Given the description of an element on the screen output the (x, y) to click on. 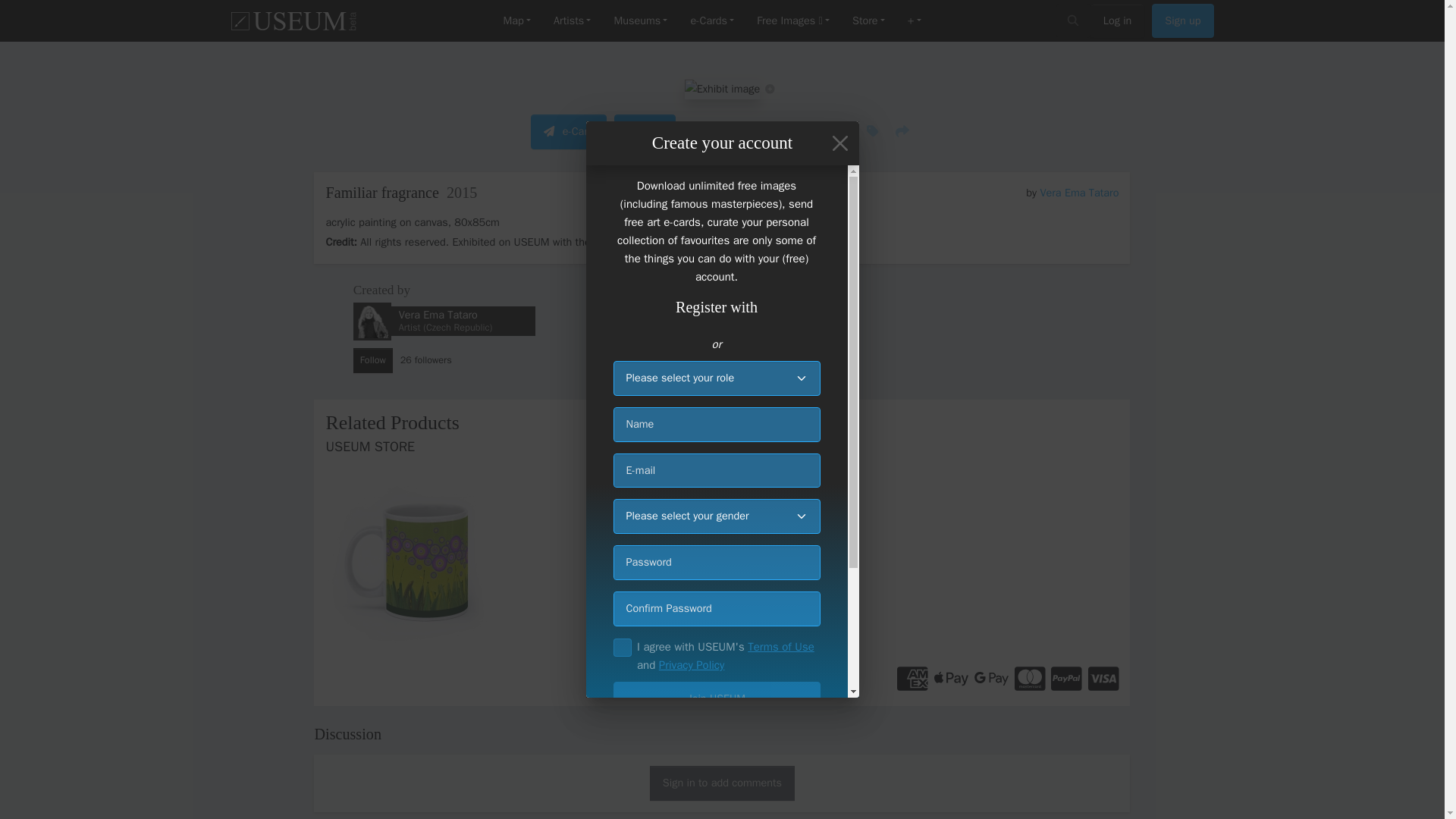
Products for Familiar fragrance from USEUM (721, 480)
Products for Familiar fragrance from USEUM (451, 561)
Map (516, 20)
on (621, 647)
